Given the description of an element on the screen output the (x, y) to click on. 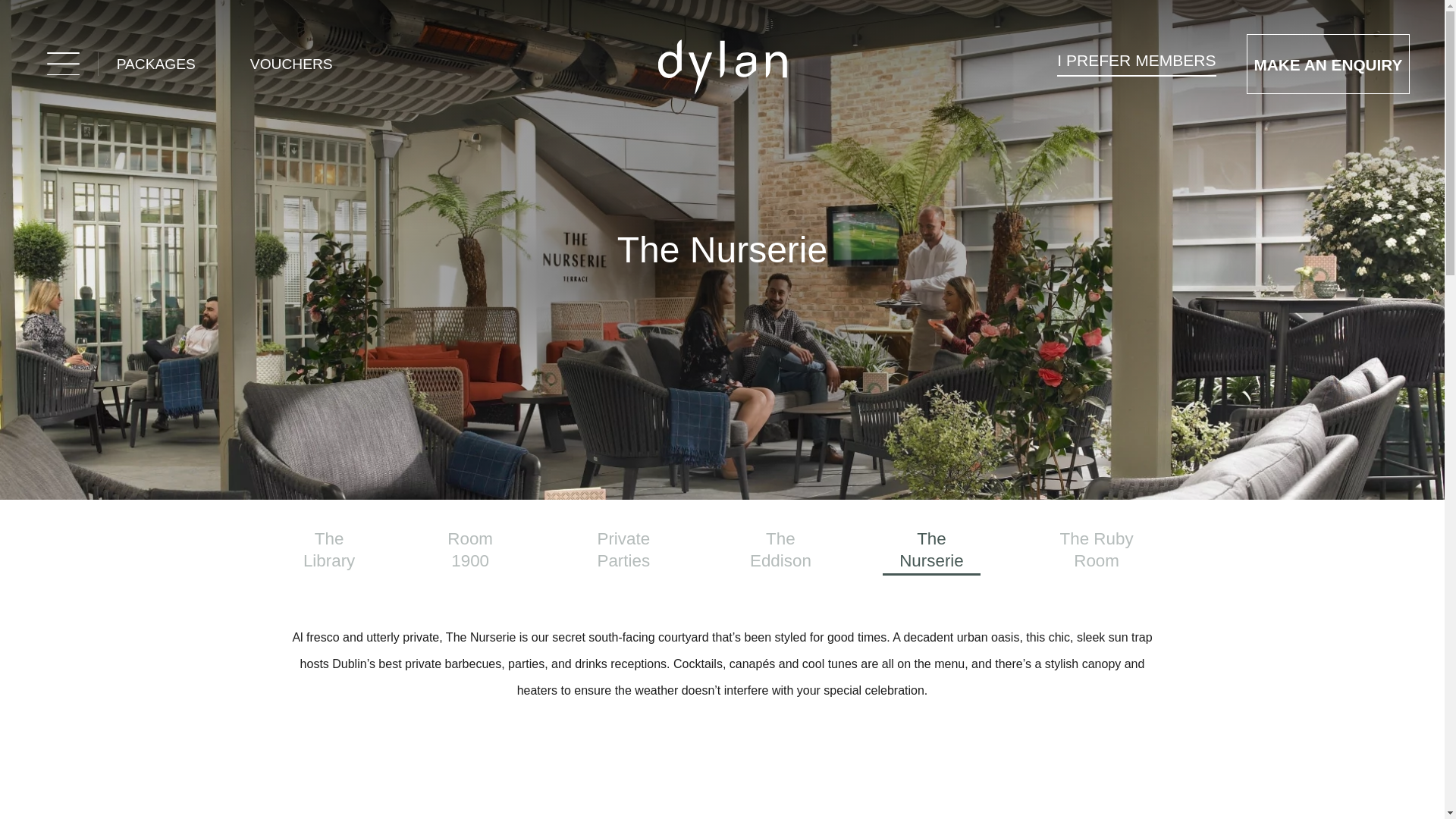
I PREFER MEMBERS (1136, 63)
The Nurserie (930, 551)
MAKE AN ENQUIRY (1327, 64)
PACKAGES (155, 64)
The Library (329, 551)
VOUCHERS (291, 64)
The Ruby Room (1096, 551)
Room 1900 (469, 551)
The Eddison (780, 551)
Private Parties (623, 551)
